Given the description of an element on the screen output the (x, y) to click on. 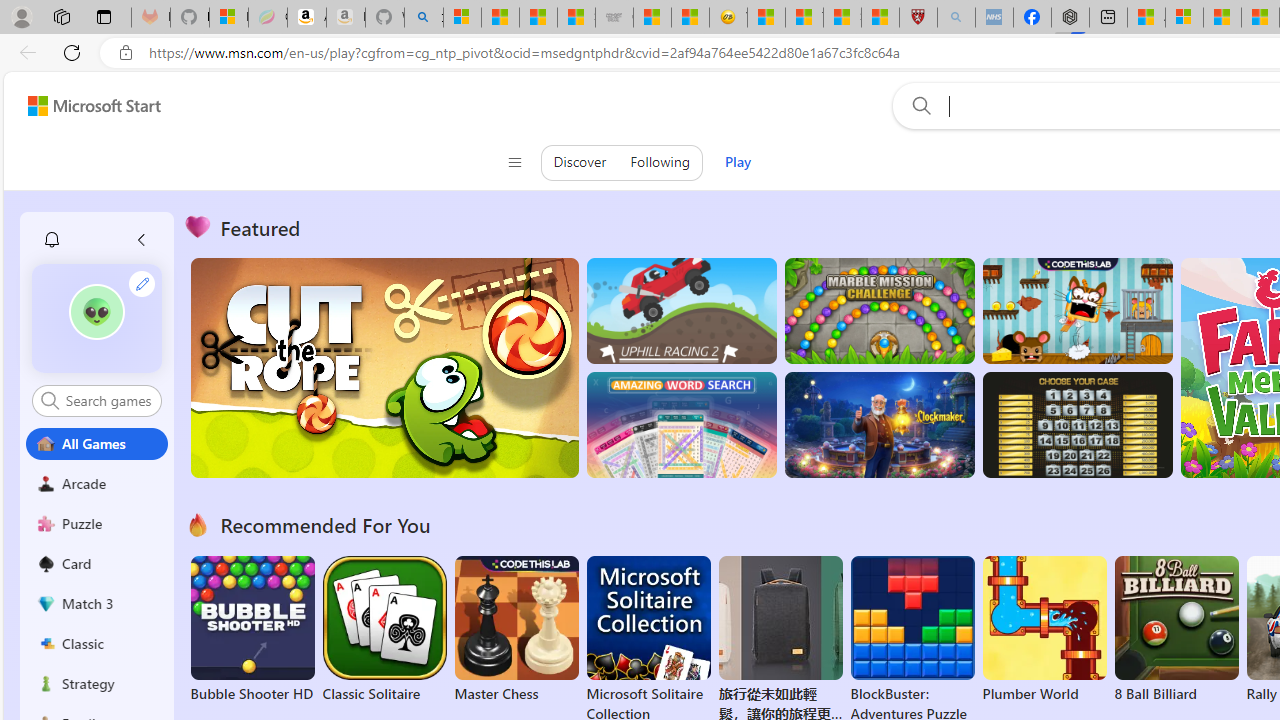
Deal or No Deal (1076, 425)
Marble Mission : Challenge (879, 310)
